Given the description of an element on the screen output the (x, y) to click on. 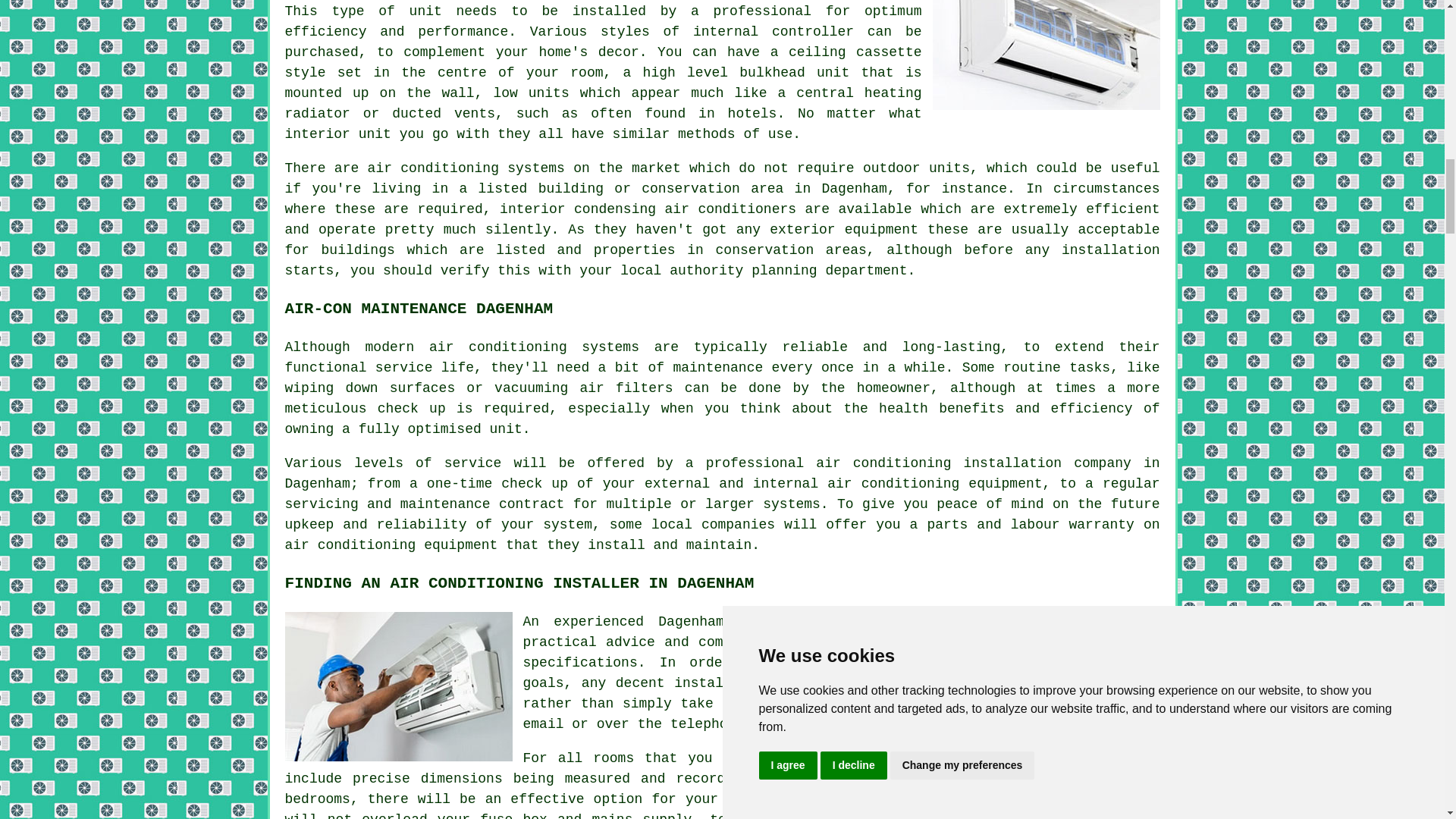
air conditioning (807, 621)
new air conditioning (994, 798)
Air Conditioning Near Dagenham Essex (1046, 54)
maintenance (717, 367)
air conditioned (882, 758)
levels of service (426, 462)
installation (1110, 249)
survey (1126, 683)
